Given the description of an element on the screen output the (x, y) to click on. 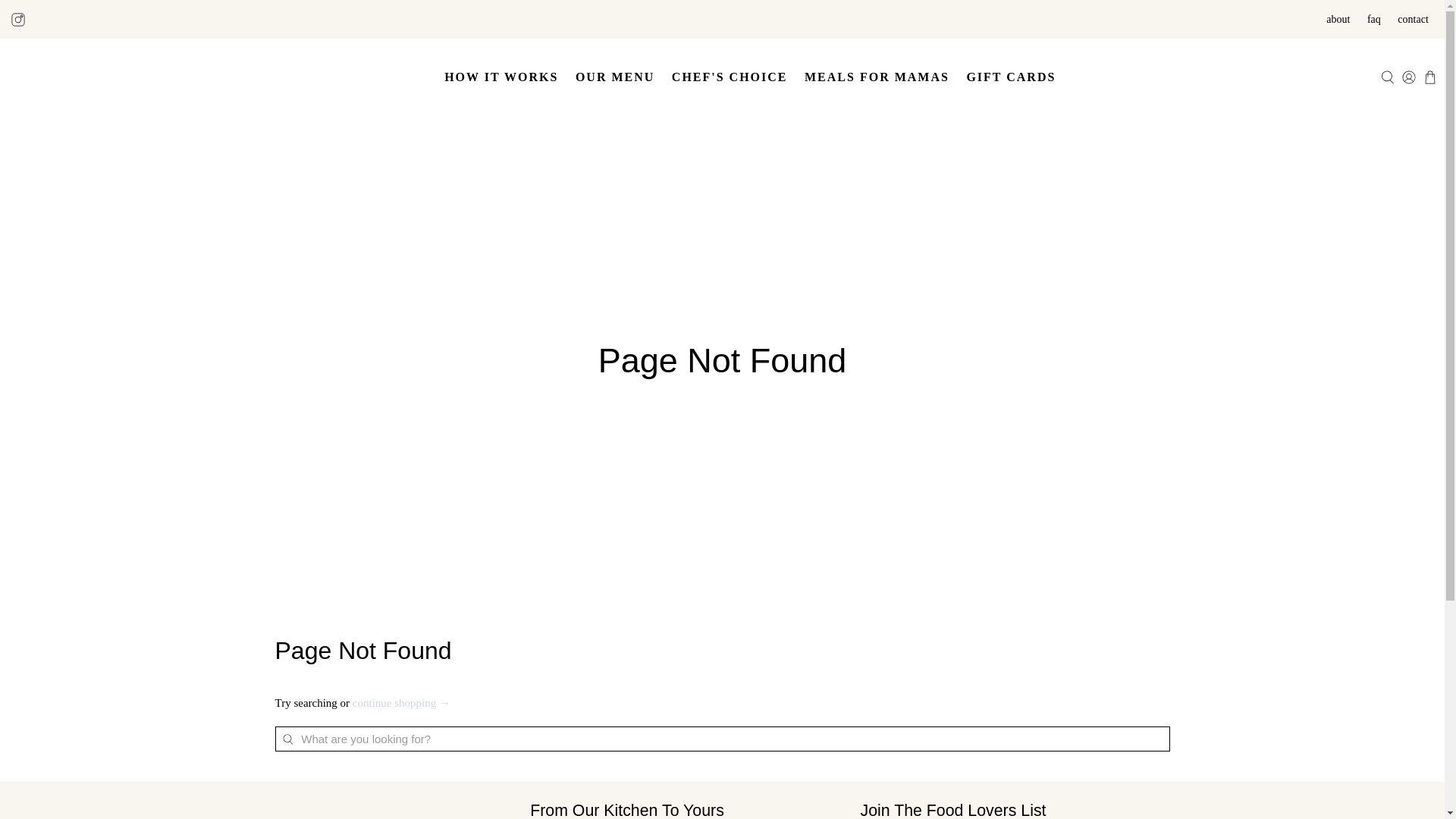
Fed by Alex (65, 76)
OUR MENU (615, 76)
about (1337, 19)
HOW IT WORKS (501, 76)
Fed by Alex on Instagram (17, 18)
MEALS FOR MAMAS (877, 76)
contact (1413, 19)
CHEF'S CHOICE (729, 76)
GIFT CARDS (1011, 76)
Fed by Alex (380, 807)
